Given the description of an element on the screen output the (x, y) to click on. 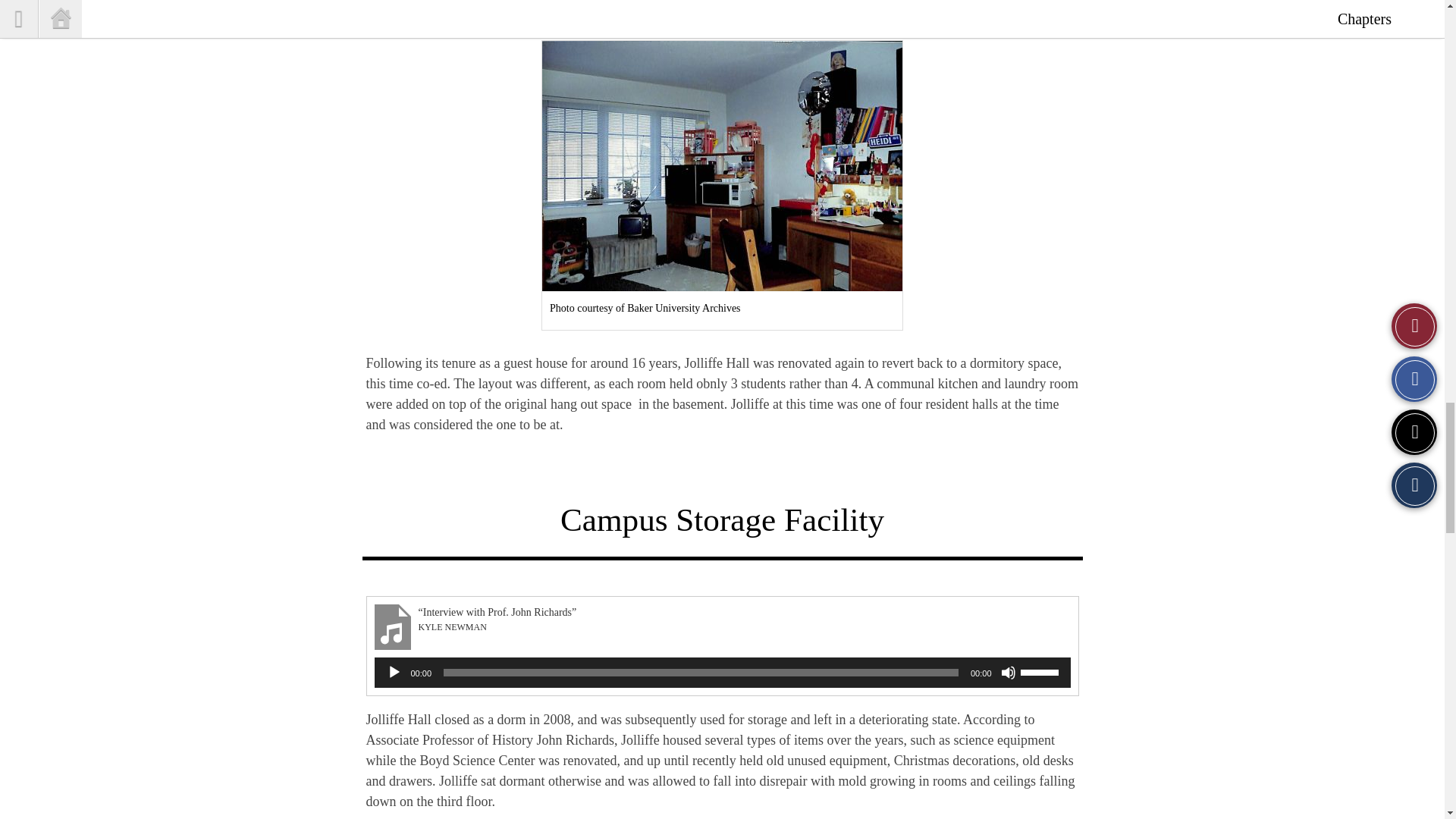
Play (394, 672)
Mute (1008, 672)
